Given the description of an element on the screen output the (x, y) to click on. 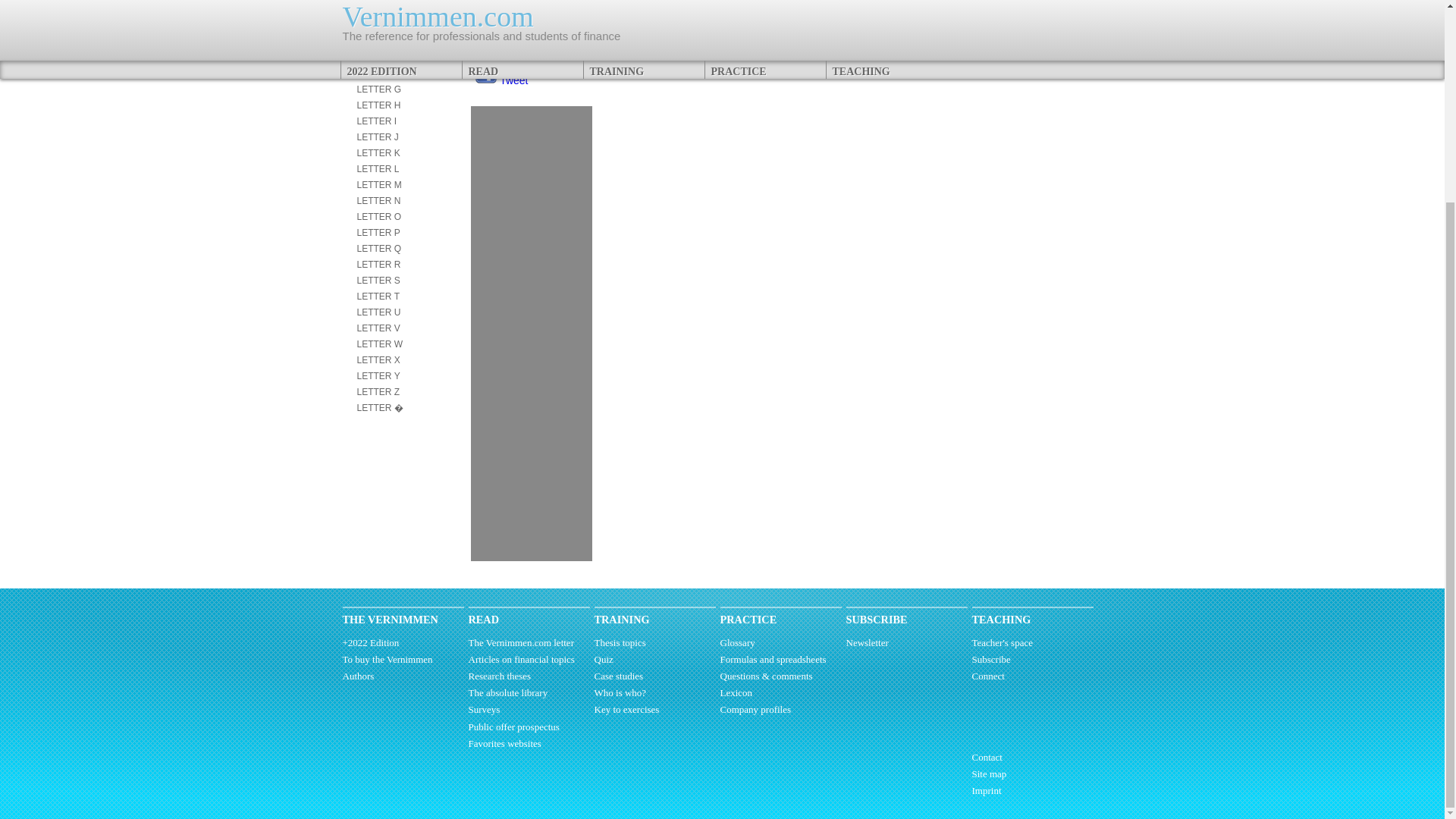
Regulation (845, 40)
Share on Facebook (485, 72)
LETTER B (377, 9)
